Given the description of an element on the screen output the (x, y) to click on. 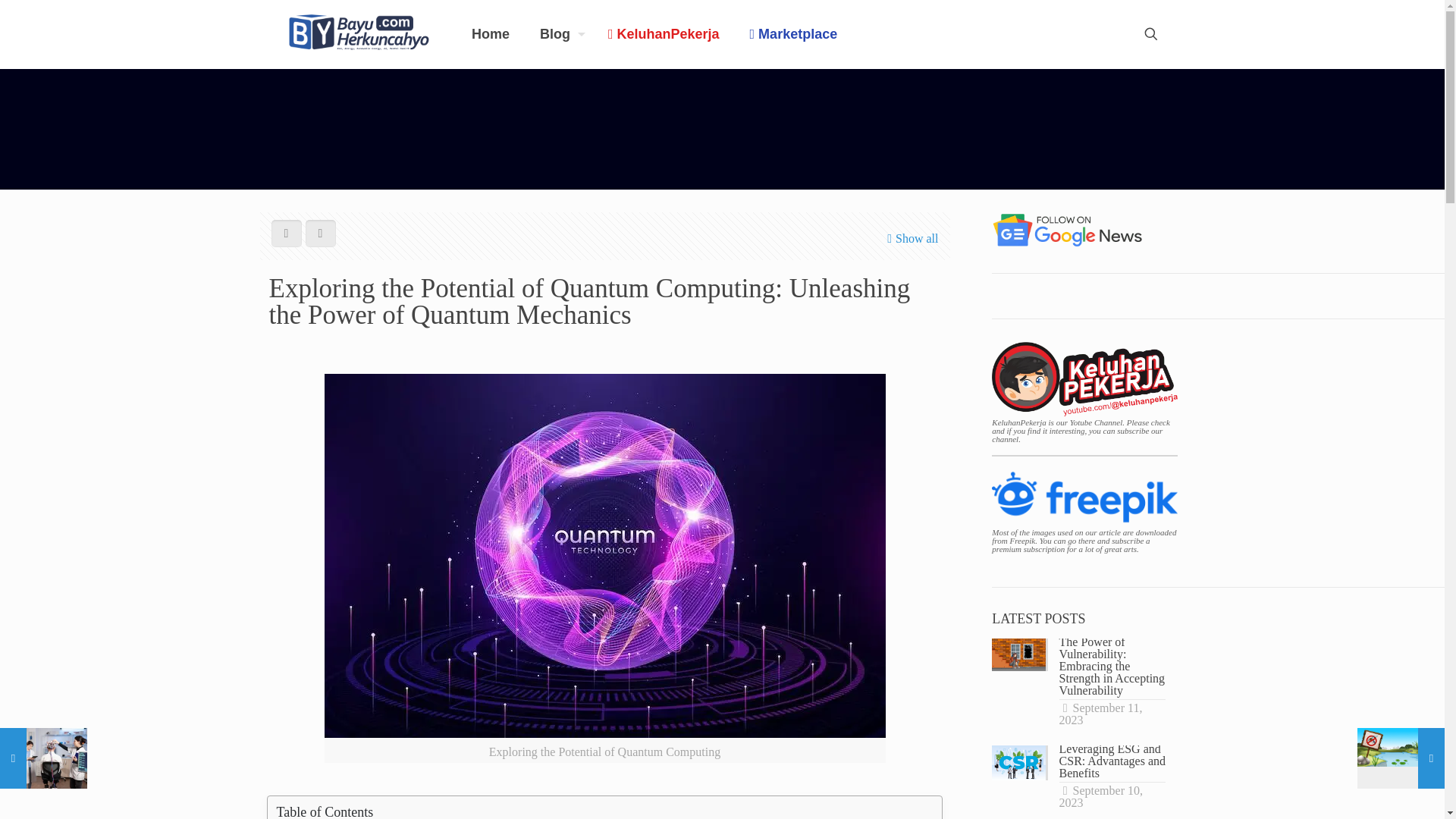
Show all (910, 238)
Blog (558, 33)
Bayu Herkuncahyo (357, 33)
Home (490, 33)
Leveraging ESG and CSR: Advantages and Benefits 12 (1018, 763)
